Given the description of an element on the screen output the (x, y) to click on. 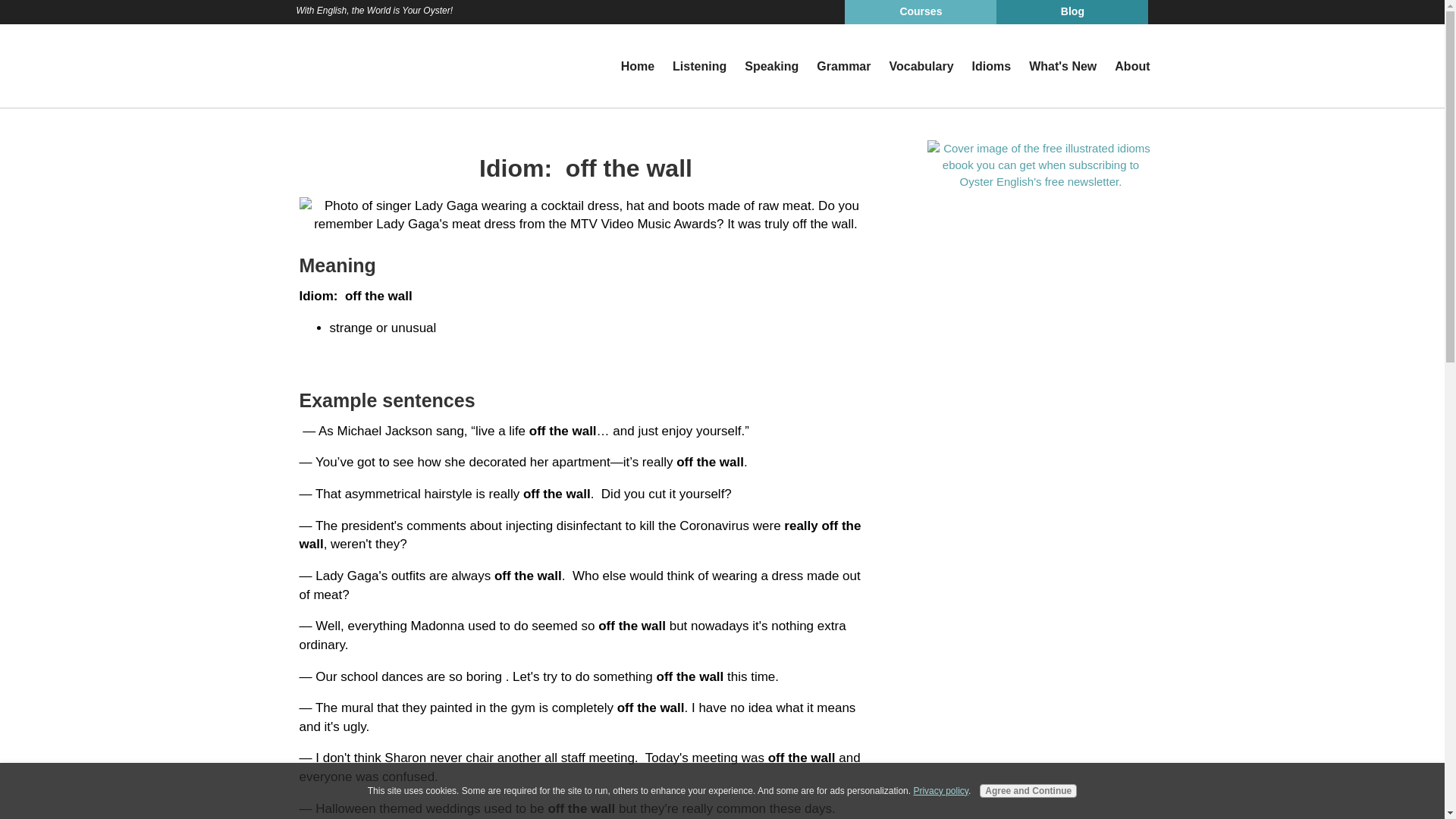
Home (637, 66)
Courses (919, 12)
OYSTERENGLISH.COM (360, 65)
Agree and Continue (1028, 790)
Blog (1071, 12)
Go to Signup and receive a free idioms ebook (1040, 180)
Subscribe to our newsletter (1040, 164)
Speaking (771, 66)
Grammar (843, 66)
Vocabulary (920, 66)
